Given the description of an element on the screen output the (x, y) to click on. 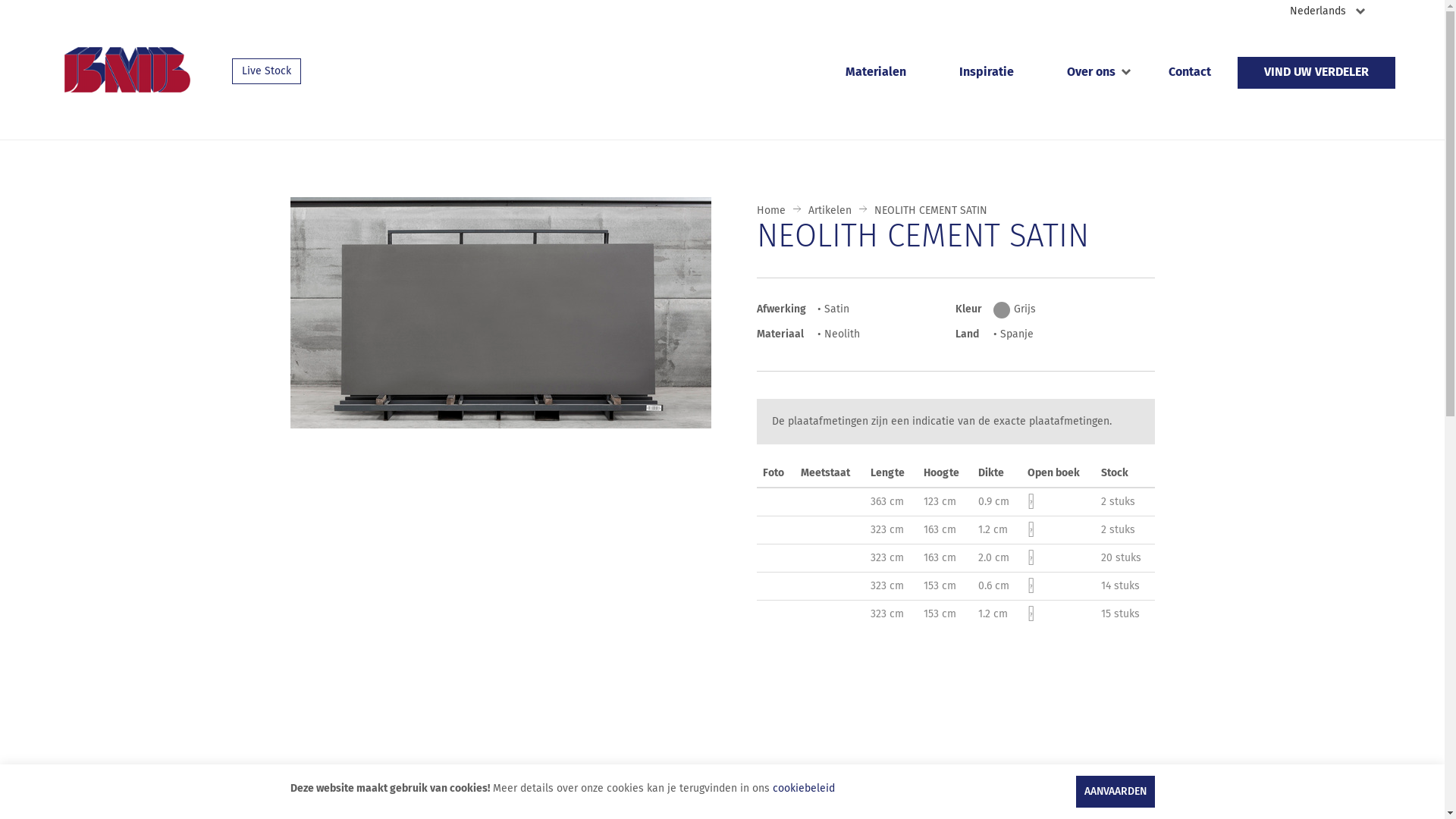
Inspiratie Element type: text (986, 72)
Artikelen Element type: text (829, 210)
Materialen Element type: text (875, 72)
Contact Element type: text (1189, 72)
Live Stock Element type: text (266, 71)
Home Element type: text (770, 210)
Over ons Element type: text (1091, 72)
AANVAARDEN Element type: text (1114, 791)
VIND UW VERDELER Element type: text (1316, 72)
cookiebeleid Element type: text (802, 788)
